Given the description of an element on the screen output the (x, y) to click on. 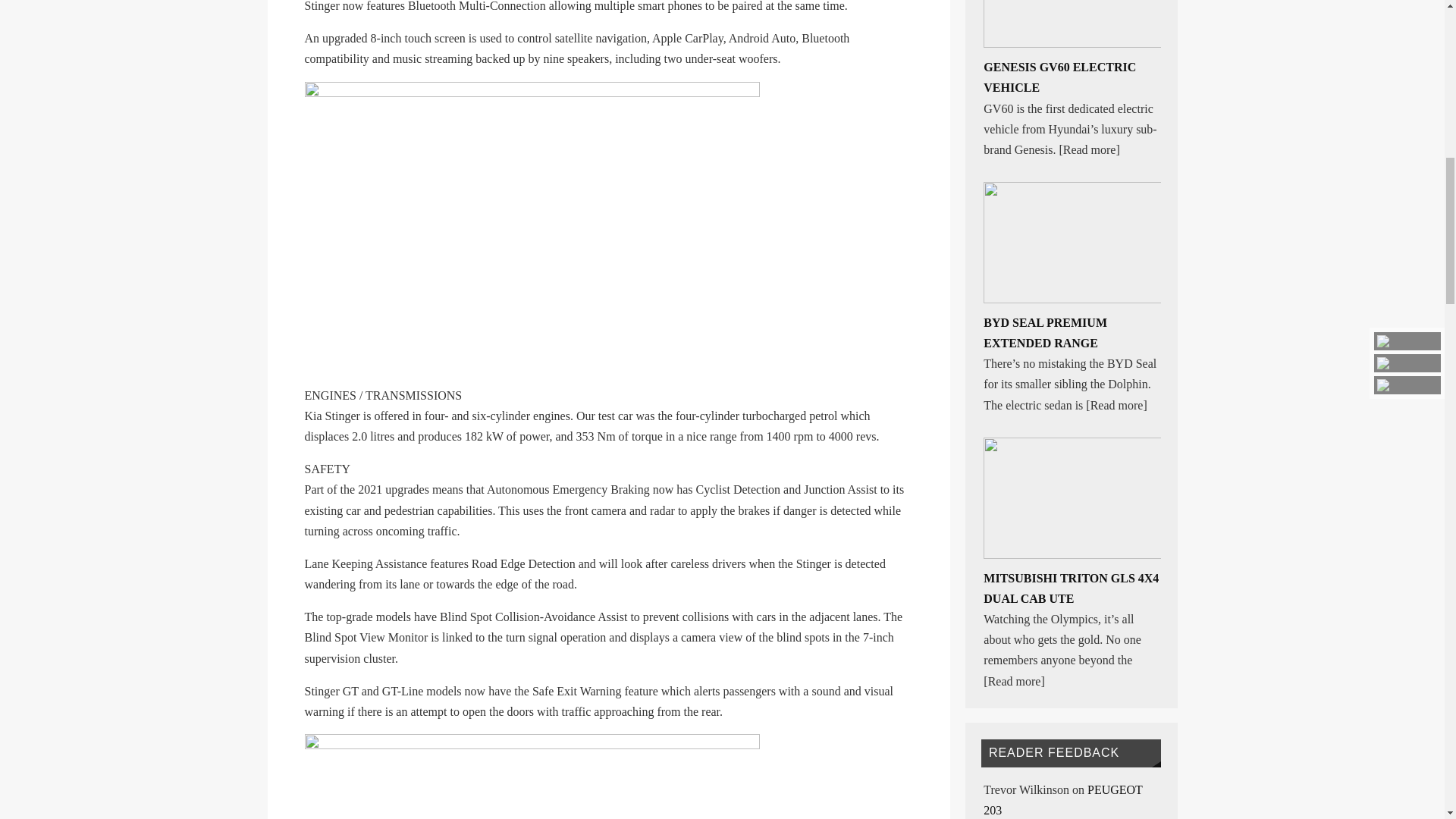
MITSUBISHI TRITON GLS 4X4 DUAL CAB UTE (1071, 588)
PEUGEOT 203 (1062, 799)
GENESIS GV60 ELECTRIC VEHICLE (1059, 77)
BYD SEAL PREMIUM EXTENDED RANGE (1045, 332)
